Given the description of an element on the screen output the (x, y) to click on. 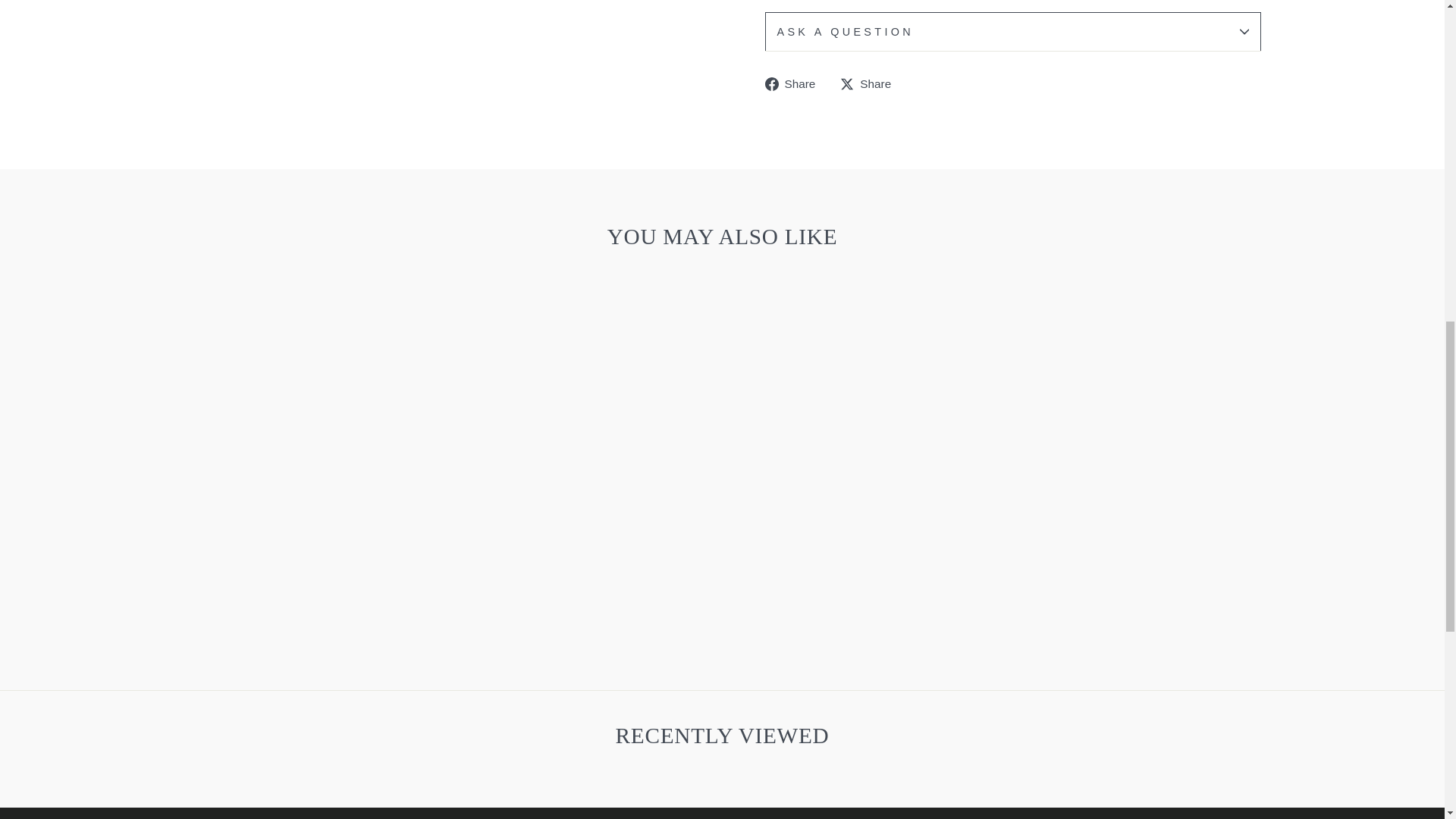
Share on Facebook (795, 83)
Share on X (871, 83)
